Given the description of an element on the screen output the (x, y) to click on. 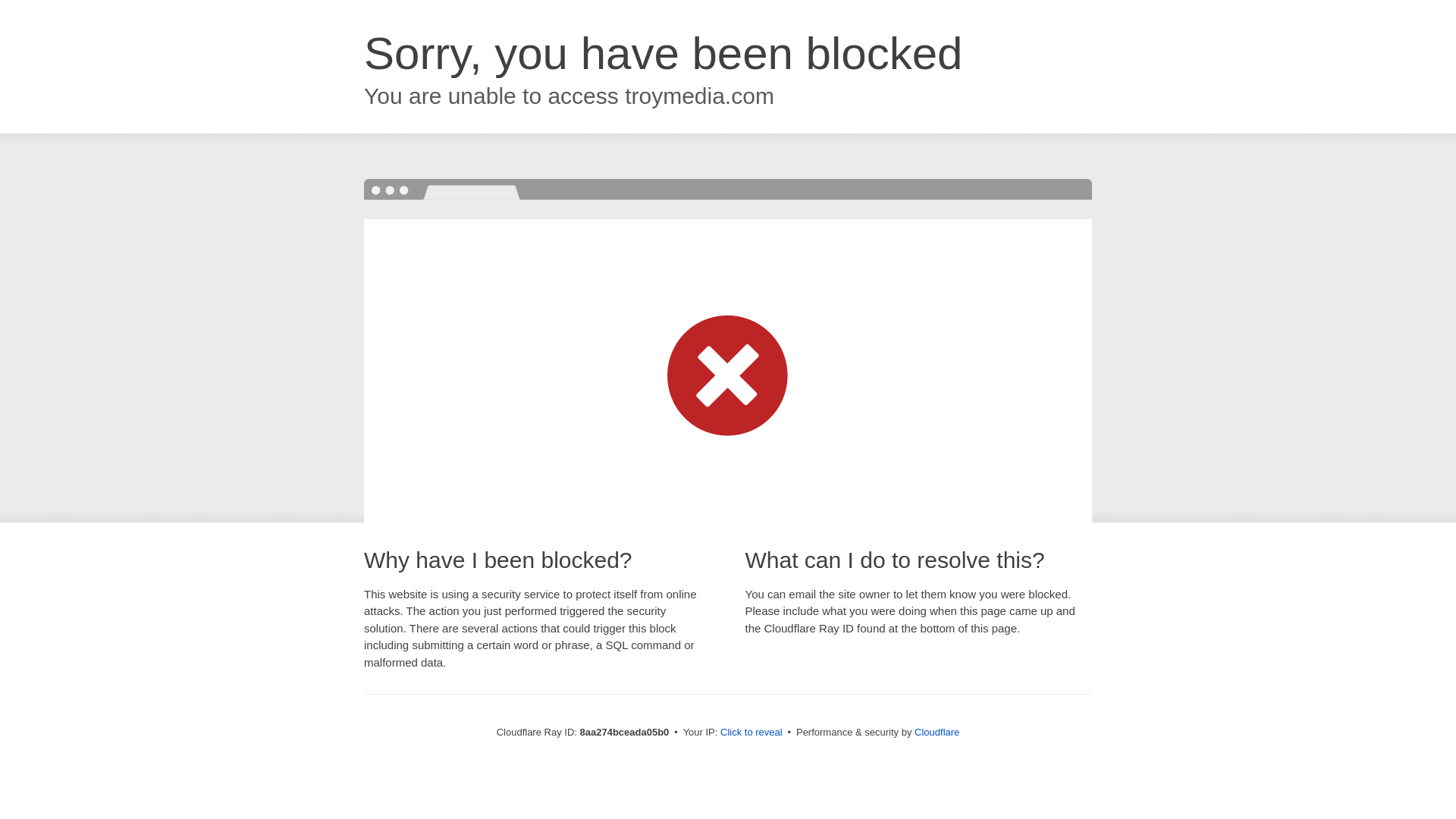
Cloudflare (936, 731)
Click to reveal (751, 732)
